Given the description of an element on the screen output the (x, y) to click on. 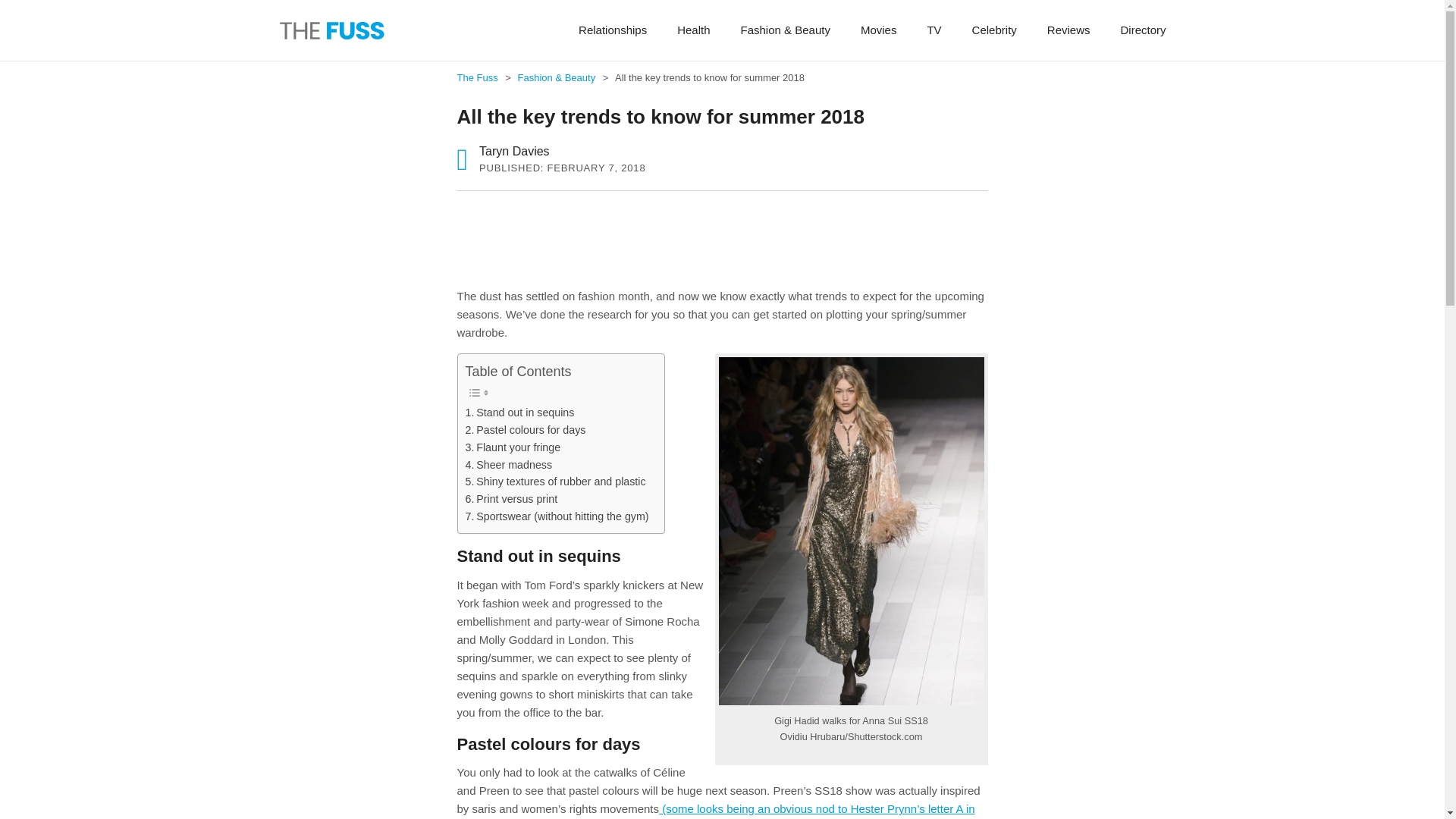
Health (693, 30)
Print versus print  (511, 498)
Sheer madness (509, 465)
Directory (1142, 30)
Go to The Fuss. (478, 77)
Shiny textures of rubber and plastic  (555, 481)
Reviews (1068, 30)
Celebrity (994, 30)
Movies (878, 30)
Stand out in sequins (520, 412)
Relationships (612, 30)
Pastel colours for days  (525, 429)
